Given the description of an element on the screen output the (x, y) to click on. 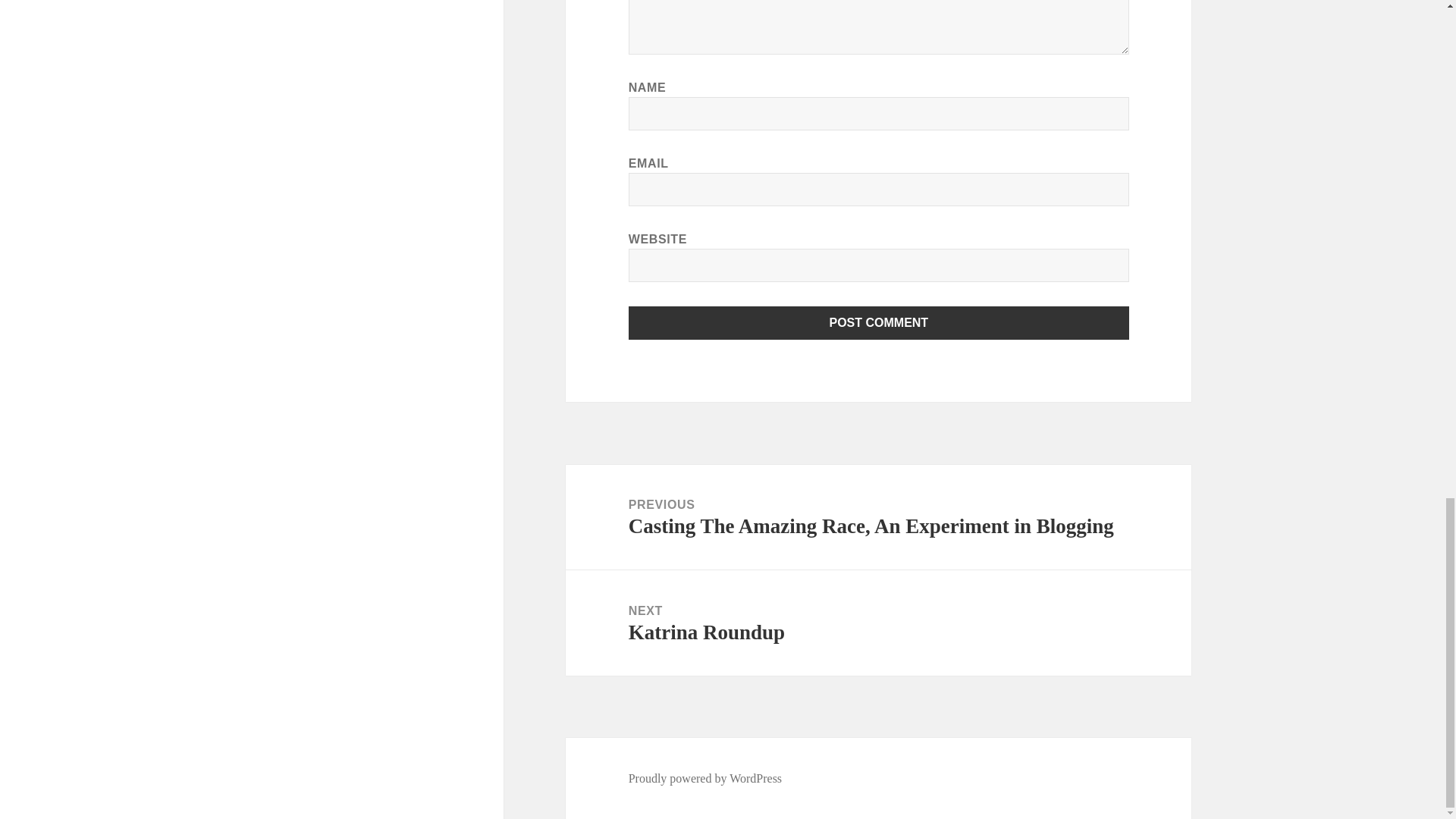
Post Comment (878, 322)
Post Comment (878, 622)
Proudly powered by WordPress (878, 322)
